Given the description of an element on the screen output the (x, y) to click on. 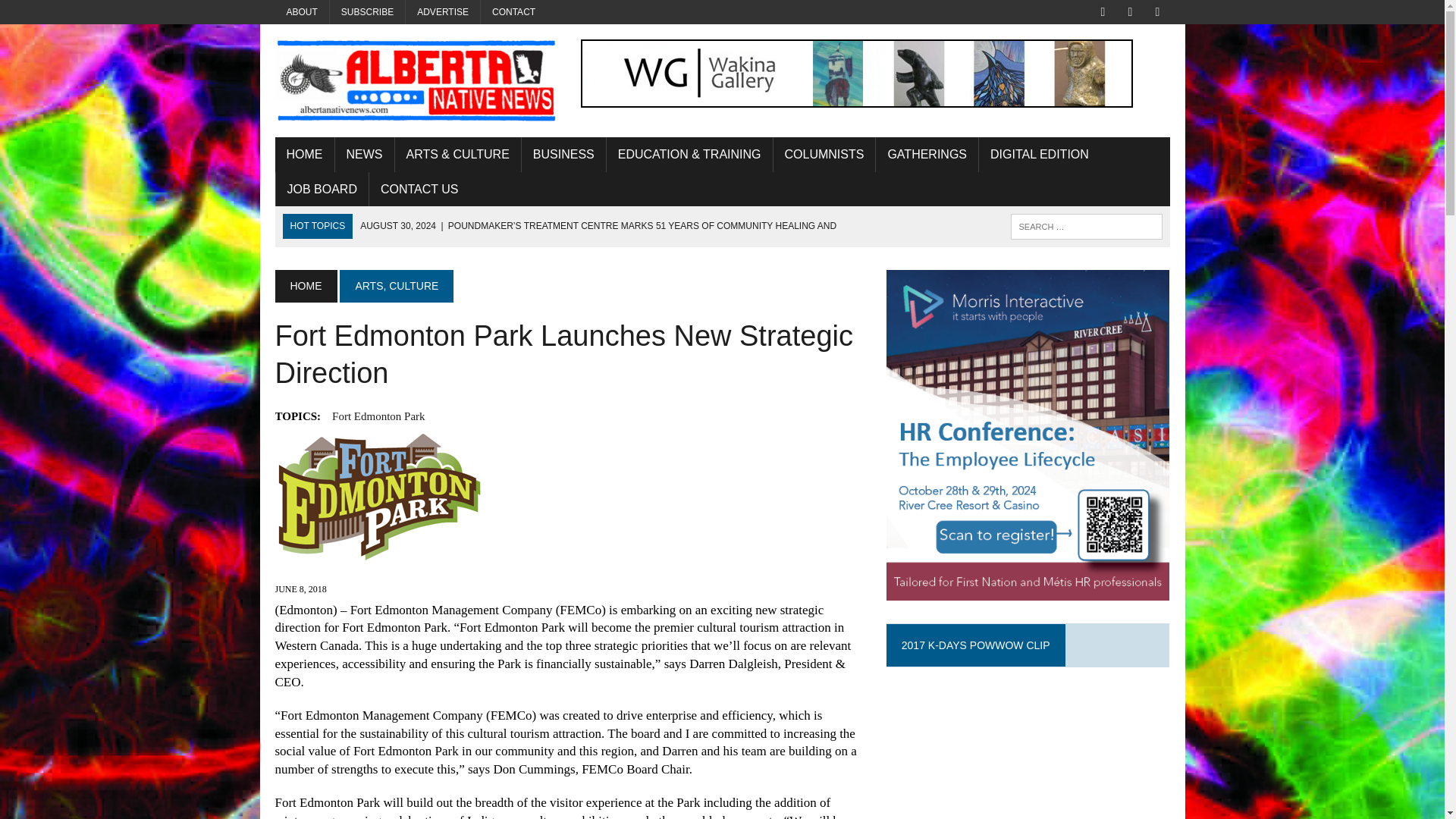
ADVERTISE (443, 12)
SUBSCRIBE (367, 12)
ABOUT (302, 12)
CONTACT (513, 12)
Alberta Native News (416, 80)
